Given the description of an element on the screen output the (x, y) to click on. 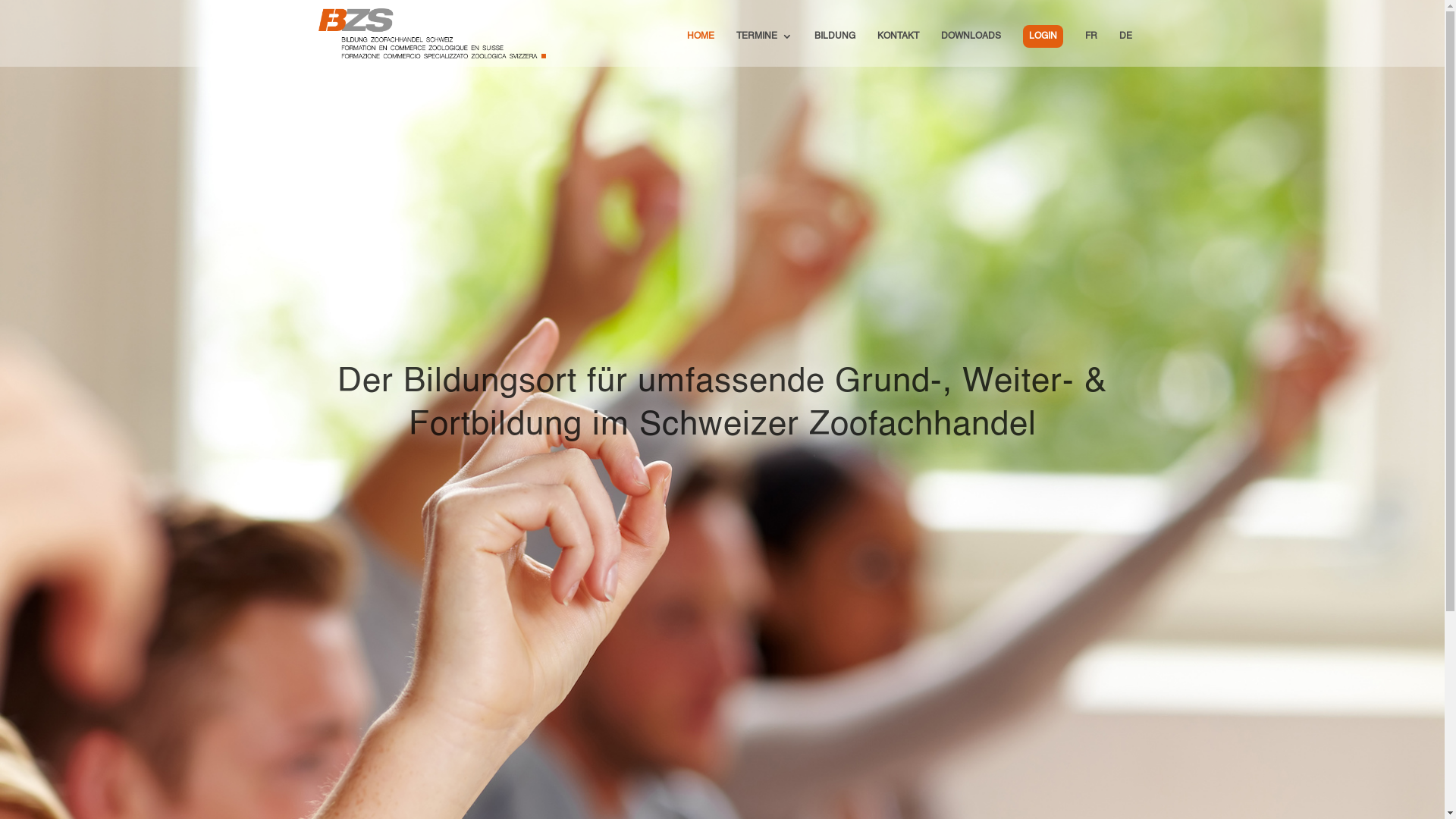
DOWNLOADS Element type: text (970, 48)
DE Element type: text (1125, 48)
FR Element type: text (1090, 48)
KONTAKT Element type: text (897, 48)
LOGIN Element type: text (1042, 36)
TERMINE Element type: text (763, 48)
HOME Element type: text (700, 48)
BILDUNG Element type: text (834, 48)
